Given the description of an element on the screen output the (x, y) to click on. 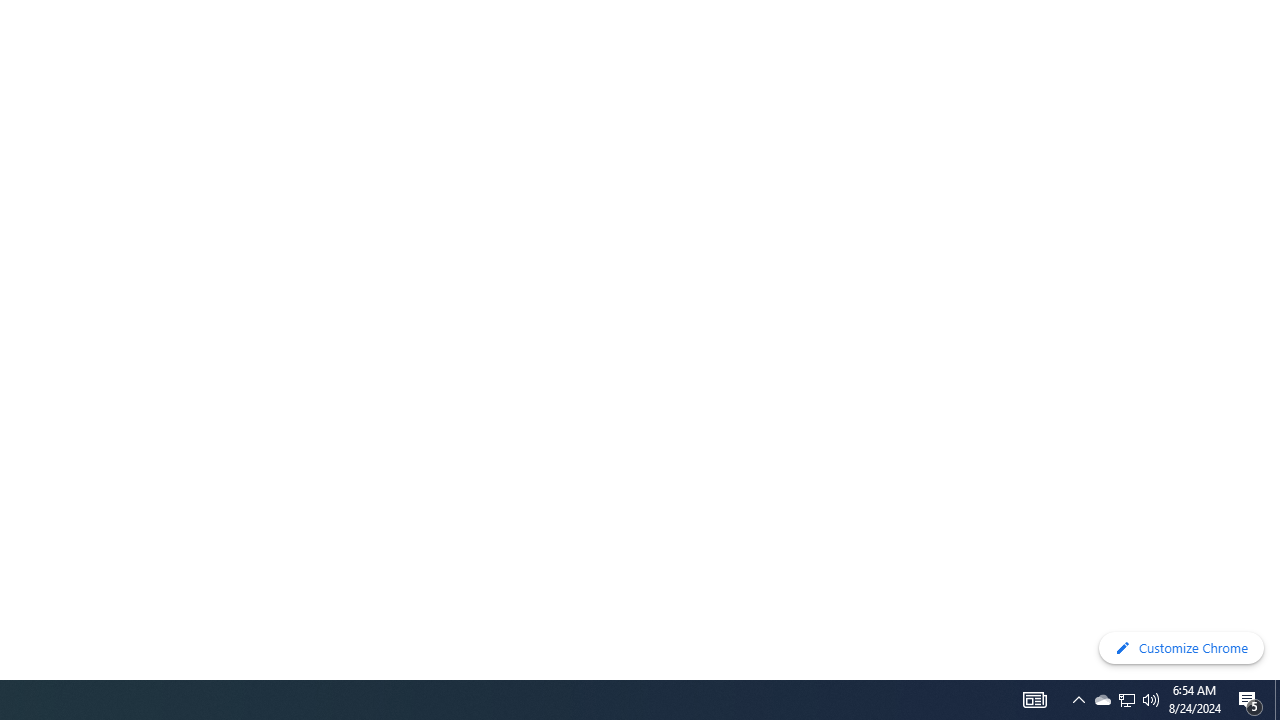
Customize Chrome (1181, 647)
